Given the description of an element on the screen output the (x, y) to click on. 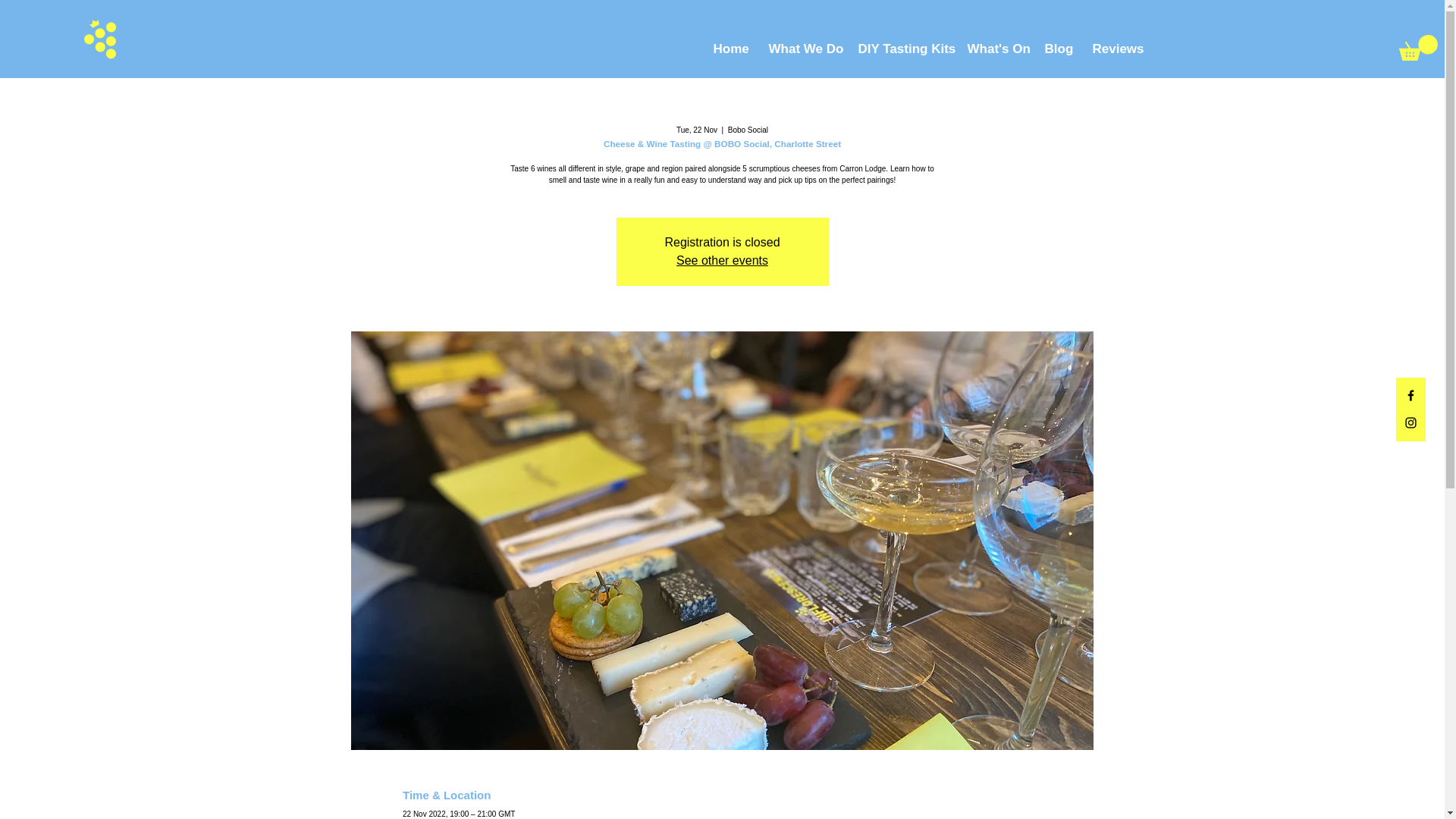
Blog (1056, 48)
What's On (993, 48)
What We Do (801, 48)
See other events (722, 259)
DIY Tasting Kits (900, 48)
Reviews (1114, 48)
Home (729, 48)
